Given the description of an element on the screen output the (x, y) to click on. 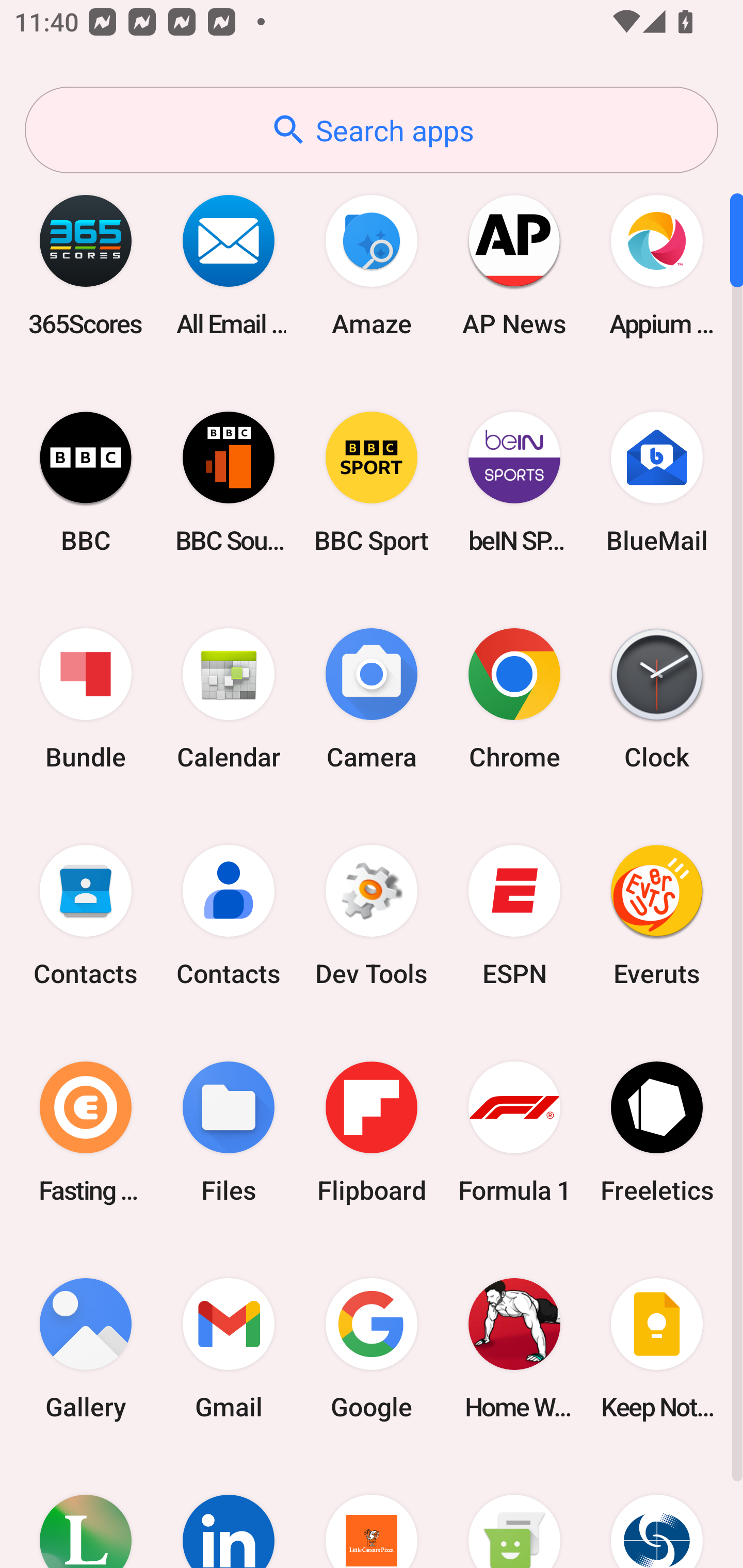
  Search apps (371, 130)
365Scores (85, 264)
All Email Connect (228, 264)
Amaze (371, 264)
AP News (514, 264)
Appium Settings (656, 264)
BBC (85, 482)
BBC Sounds (228, 482)
BBC Sport (371, 482)
beIN SPORTS (514, 482)
BlueMail (656, 482)
Bundle (85, 699)
Calendar (228, 699)
Camera (371, 699)
Chrome (514, 699)
Clock (656, 699)
Contacts (85, 915)
Contacts (228, 915)
Dev Tools (371, 915)
ESPN (514, 915)
Everuts (656, 915)
Fasting Coach (85, 1131)
Files (228, 1131)
Flipboard (371, 1131)
Formula 1 (514, 1131)
Freeletics (656, 1131)
Gallery (85, 1348)
Gmail (228, 1348)
Google (371, 1348)
Home Workout (514, 1348)
Keep Notes (656, 1348)
Lifesum (85, 1512)
LinkedIn (228, 1512)
Little Caesars Pizza (371, 1512)
Messaging (514, 1512)
MyObservatory (656, 1512)
